Given the description of an element on the screen output the (x, y) to click on. 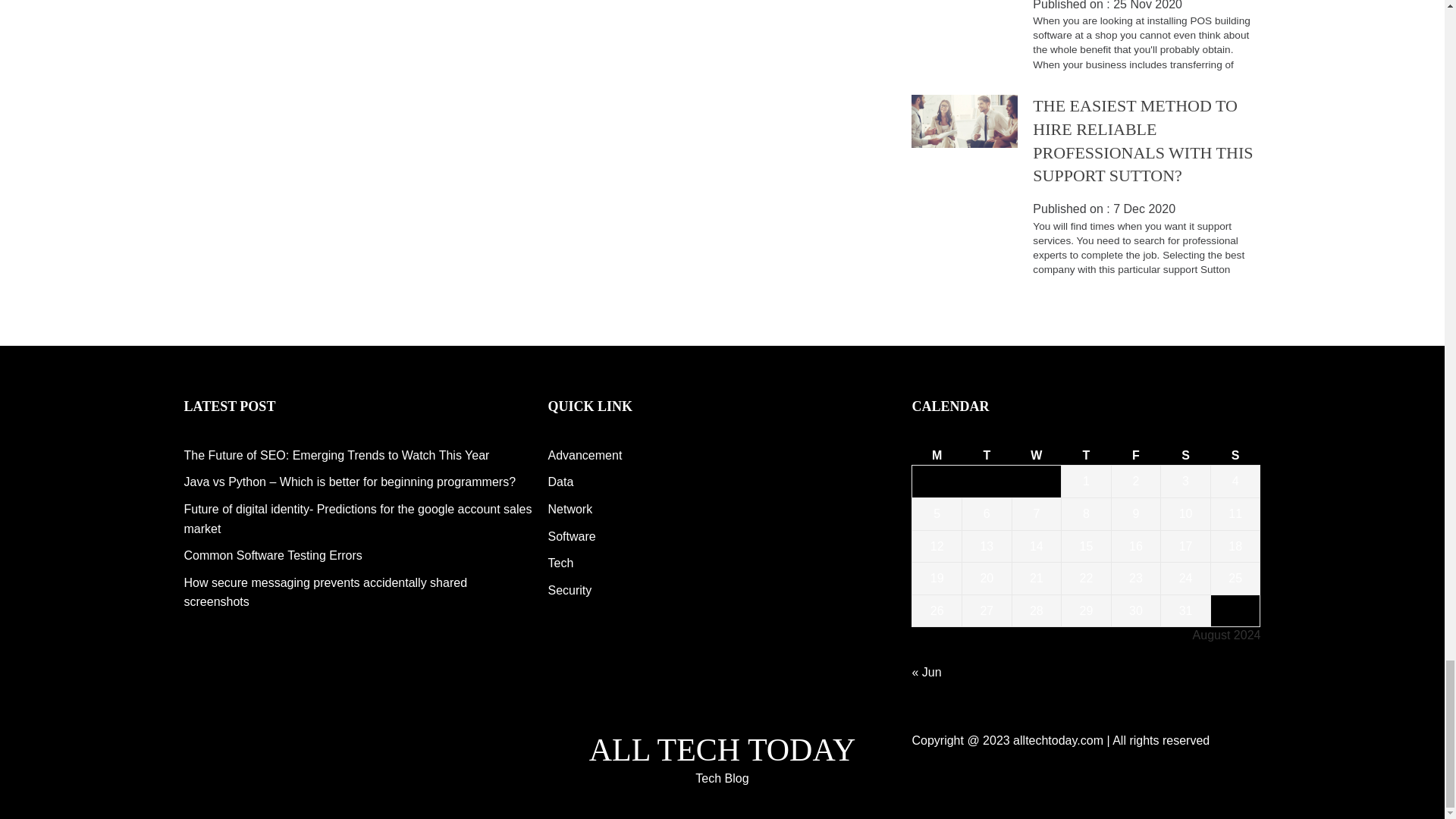
Tuesday (986, 455)
Friday (1135, 455)
Saturday (1185, 455)
Sunday (1234, 455)
Thursday (1086, 455)
Wednesday (1036, 455)
Monday (937, 455)
